Given the description of an element on the screen output the (x, y) to click on. 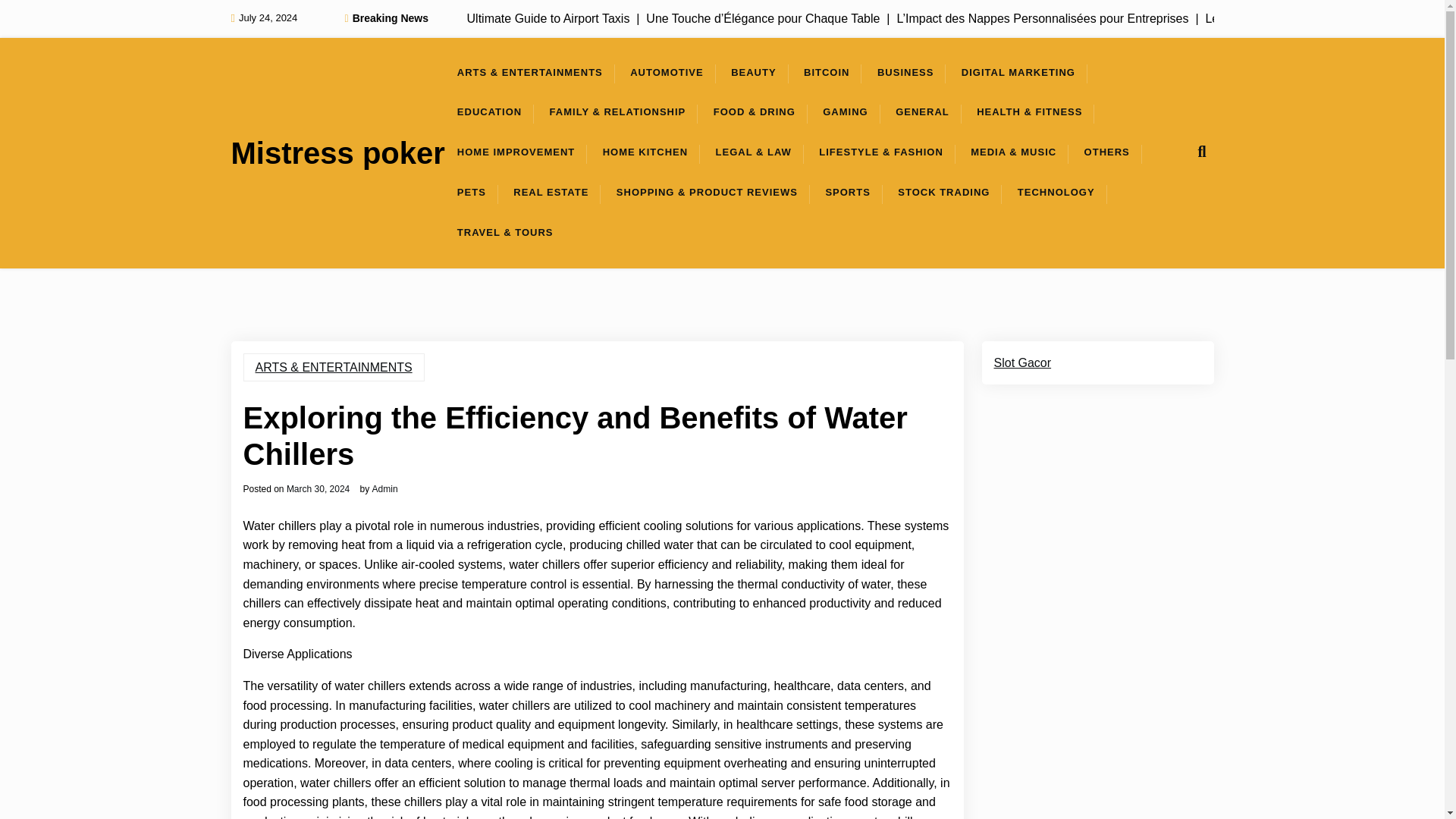
BITCOIN (826, 73)
BEAUTY (753, 73)
GAMING (844, 112)
DIGITAL MARKETING (1018, 73)
BUSINESS (904, 73)
AUTOMOTIVE (665, 73)
GENERAL (921, 112)
EDUCATION (489, 112)
Mistress poker (337, 153)
